Given the description of an element on the screen output the (x, y) to click on. 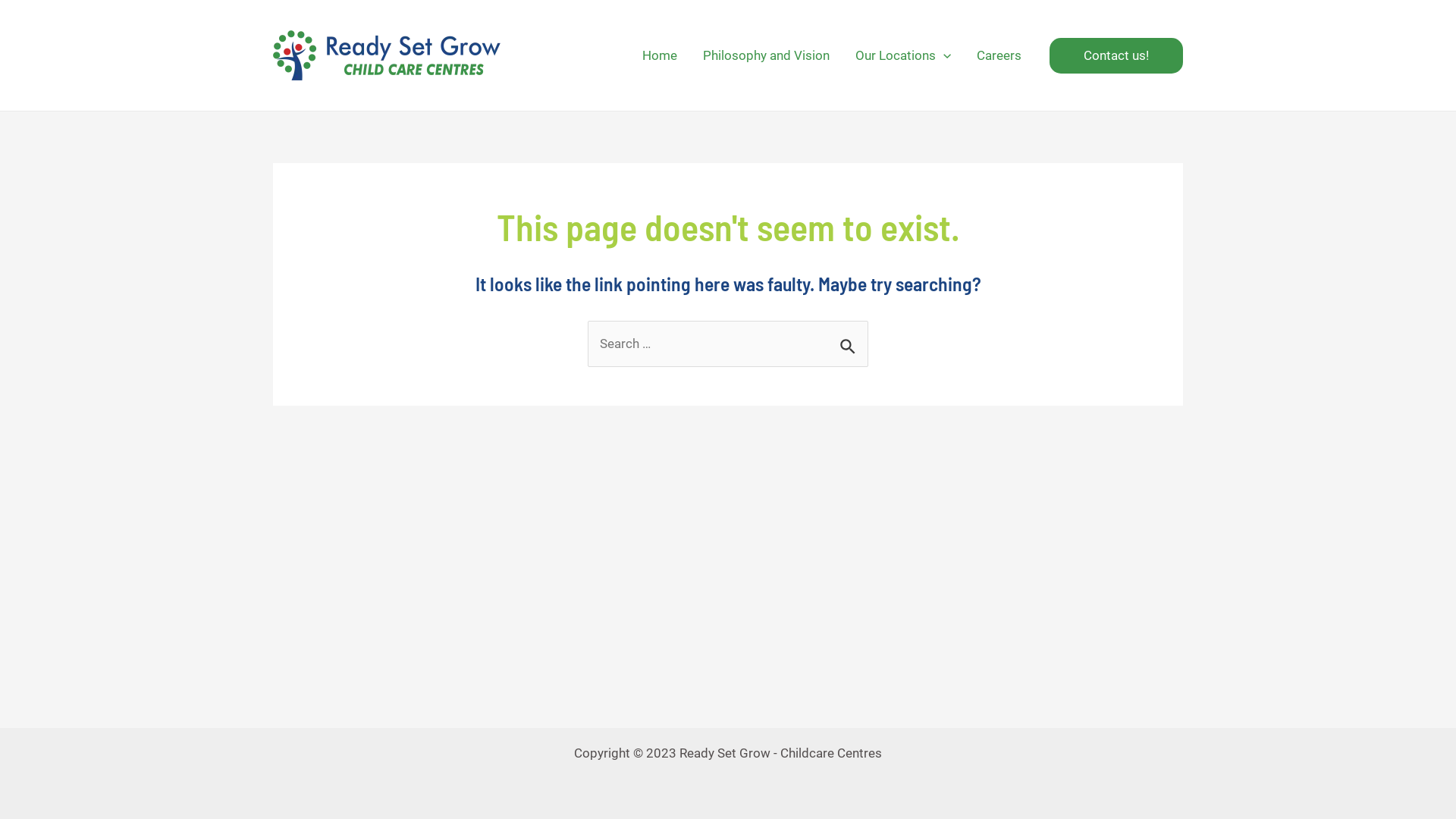
Our Locations Element type: text (902, 55)
Contact us! Element type: text (1116, 55)
Careers Element type: text (998, 55)
Search Element type: text (851, 338)
Philosophy and Vision Element type: text (766, 55)
Home Element type: text (659, 55)
